Given the description of an element on the screen output the (x, y) to click on. 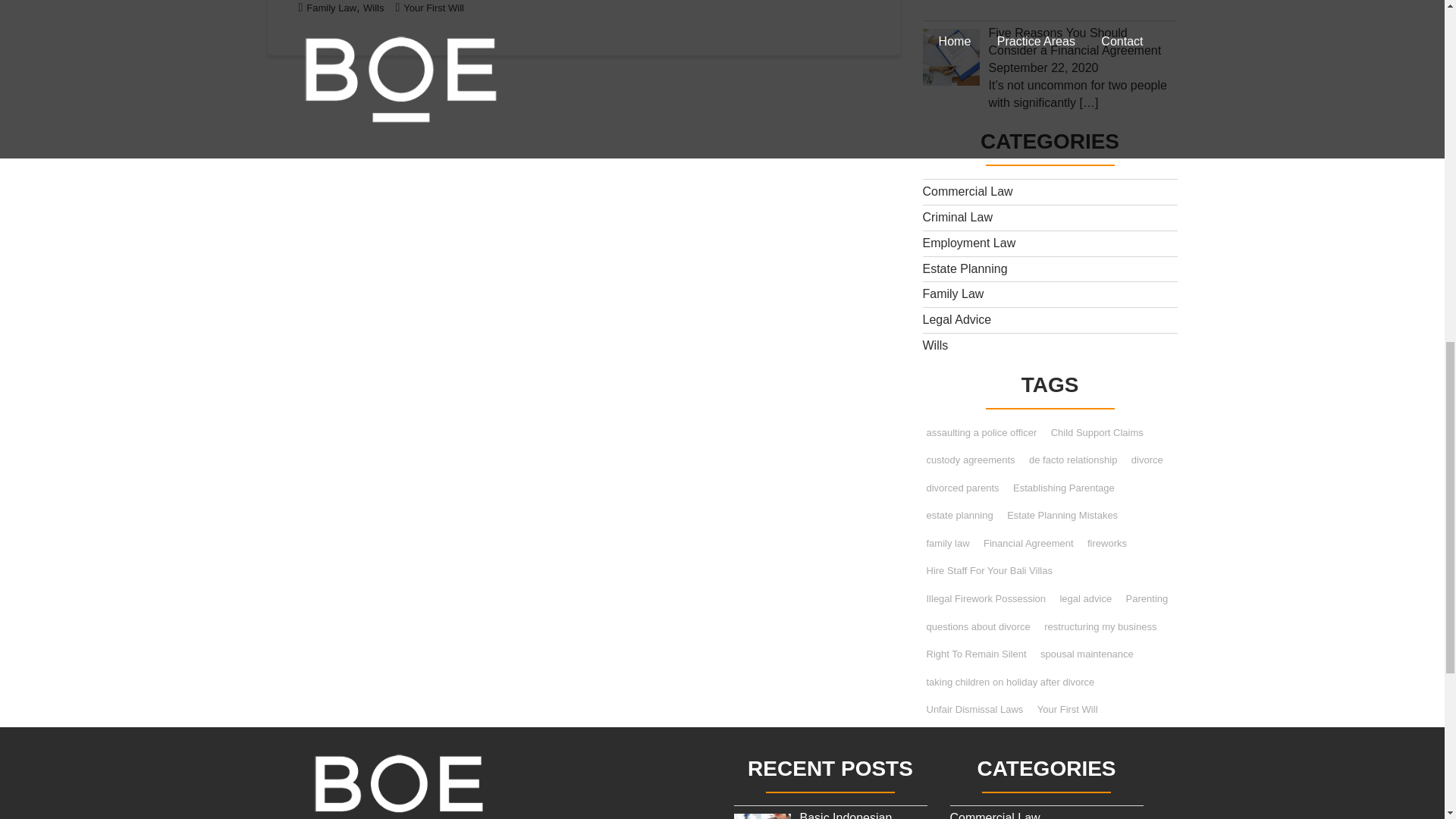
Criminal Law (956, 216)
Commercial Law (966, 191)
Five Reasons You Should Consider a Financial Agreement (1074, 41)
Family Law (330, 7)
Employment Law (967, 242)
Your First Will (433, 7)
Family Law (952, 293)
Legal Advice (956, 318)
Estate Planning (964, 268)
Wills (373, 7)
